Given the description of an element on the screen output the (x, y) to click on. 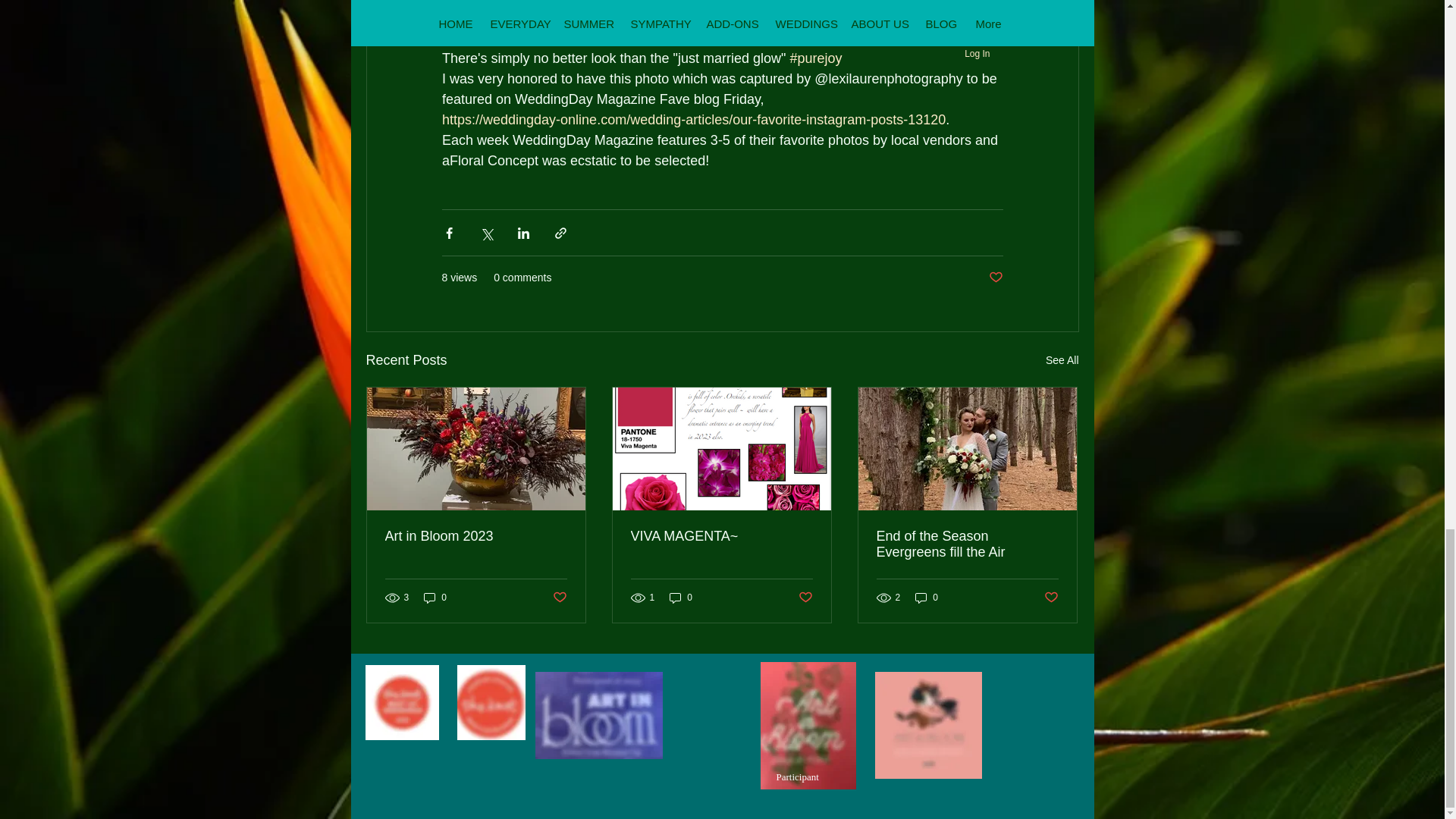
Post not marked as liked (995, 277)
Post not marked as liked (1050, 597)
See All (1061, 360)
0 (435, 597)
Art in Bloom 2023 (476, 536)
0 (926, 597)
Post not marked as liked (804, 597)
End of the Season Evergreens fill the Air (967, 544)
IMG-5546.jpg (598, 715)
0 (681, 597)
Post not marked as liked (558, 597)
